Given the description of an element on the screen output the (x, y) to click on. 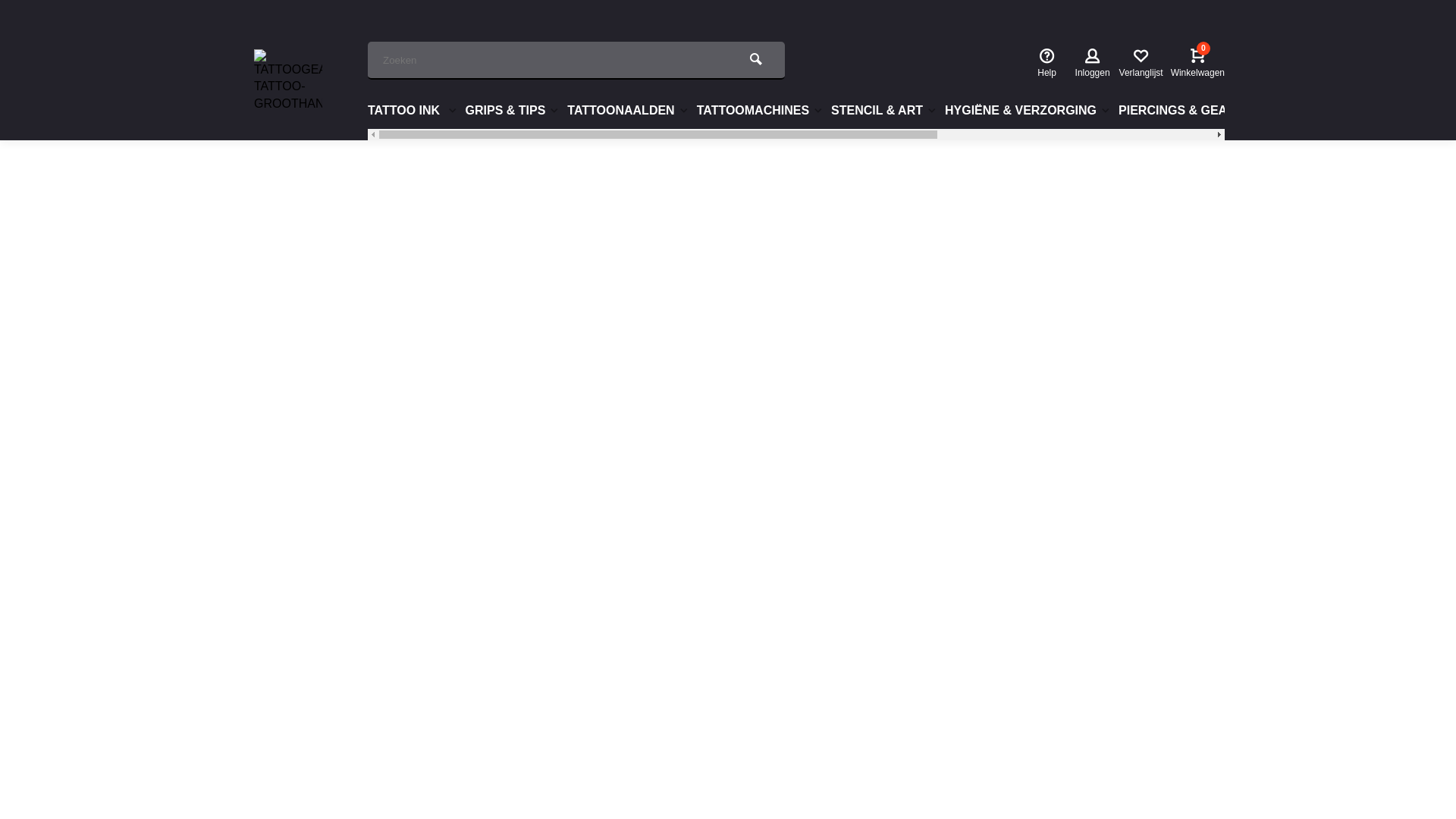
TATTOOGEAR TATTOO-GROOTHANDEL (288, 83)
Inloggen (1093, 64)
TATTOO INK  (414, 110)
Help (1046, 64)
TATTOO INK (414, 110)
Verlanglijst (1141, 64)
